Given the description of an element on the screen output the (x, y) to click on. 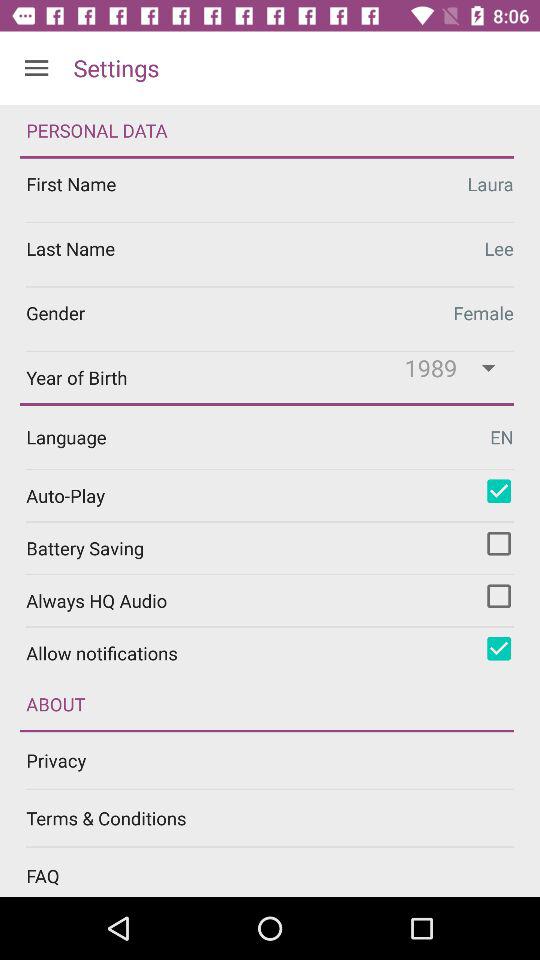
open terms & conditions icon (283, 817)
